Given the description of an element on the screen output the (x, y) to click on. 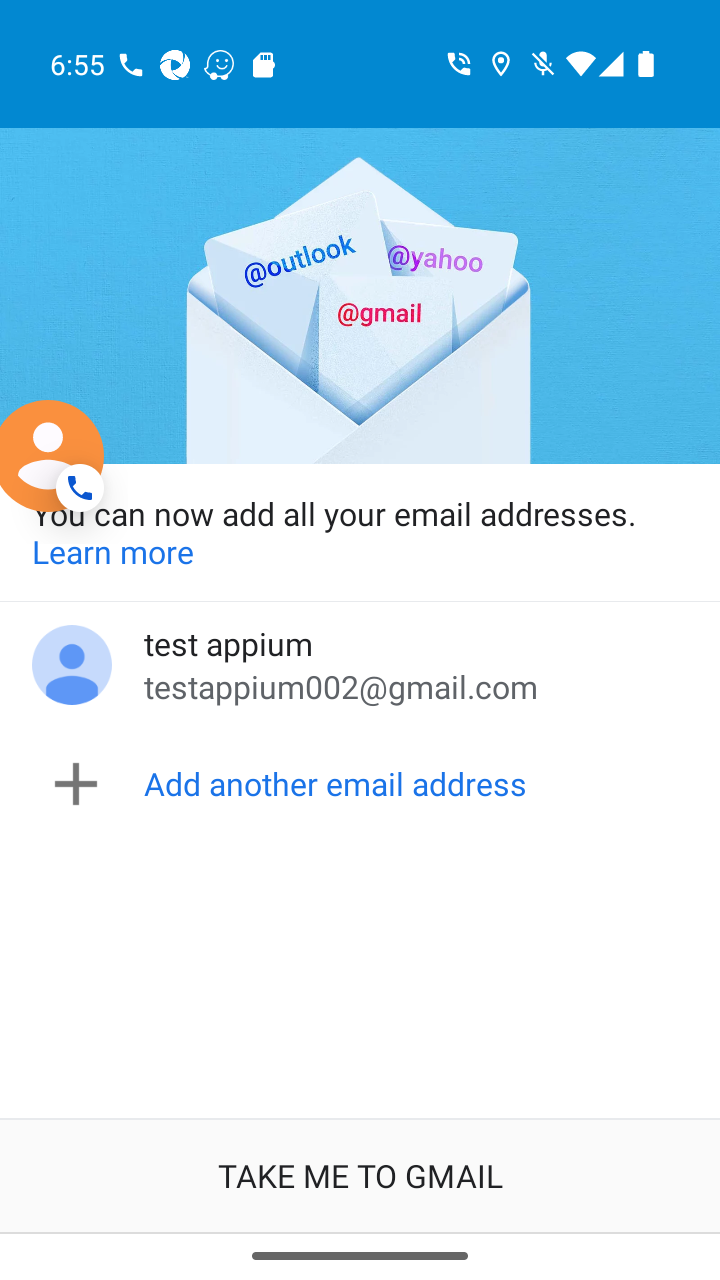
Add another email address (363, 783)
TAKE ME TO GMAIL (360, 1175)
